Given the description of an element on the screen output the (x, y) to click on. 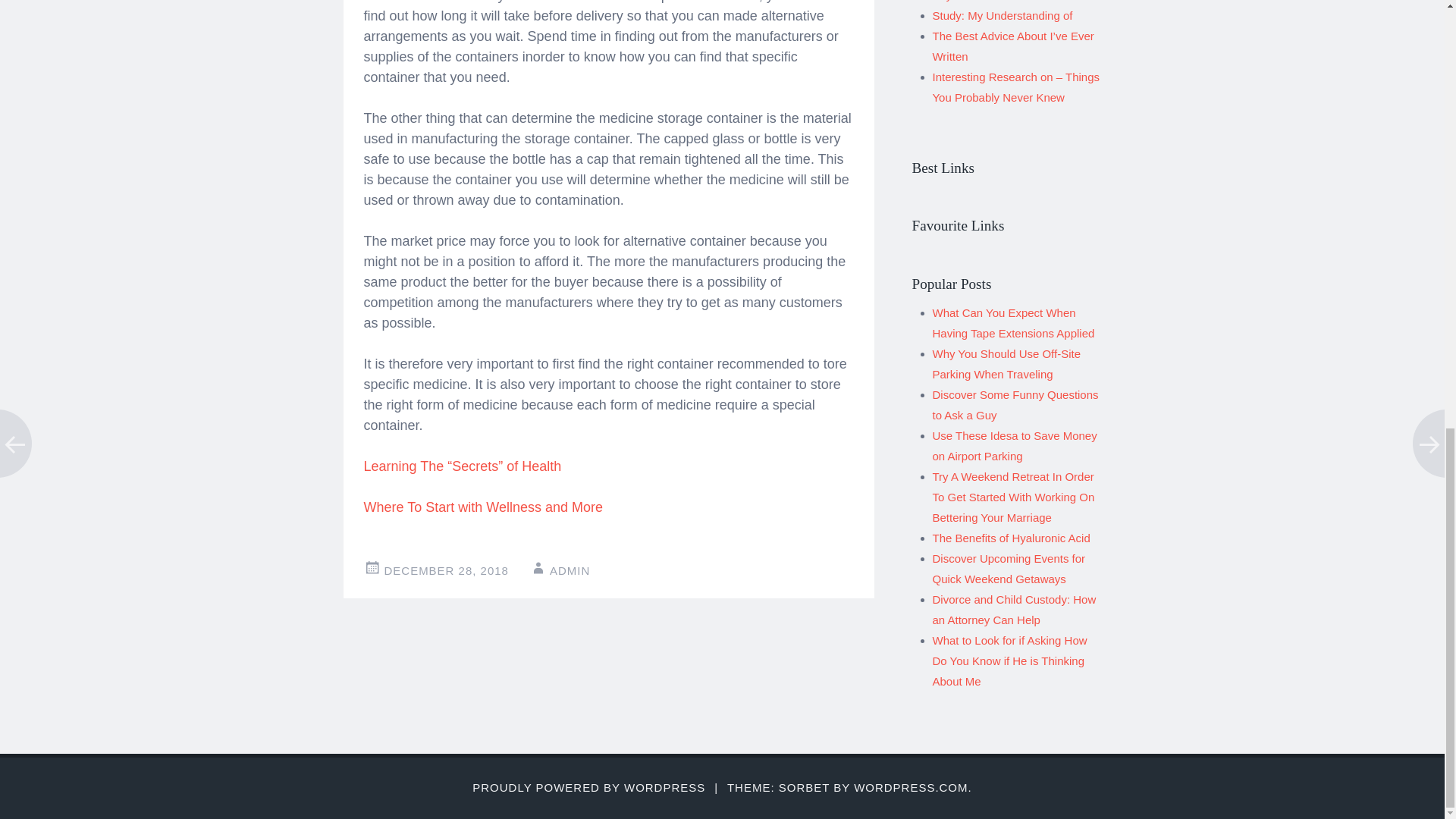
DECEMBER 28, 2018 (446, 570)
Where To Start with Wellness and More (483, 507)
ADMIN (569, 570)
View all posts by admin (569, 570)
Discover Some Funny Questions to Ask a Guy (1016, 404)
Divorce and Child Custody: How an Attorney Can Help (1014, 609)
Use These Idesa to Save Money on Airport Parking (1015, 445)
4:39 am (446, 570)
Discover Upcoming Events for Quick Weekend Getaways (1009, 568)
The Benefits of Hyaluronic Acid (1011, 537)
Why You Should Use Off-Site Parking When Traveling (1006, 363)
Study: My Understanding of (1003, 15)
Why No One Talks About Anymore (995, 0)
